Given the description of an element on the screen output the (x, y) to click on. 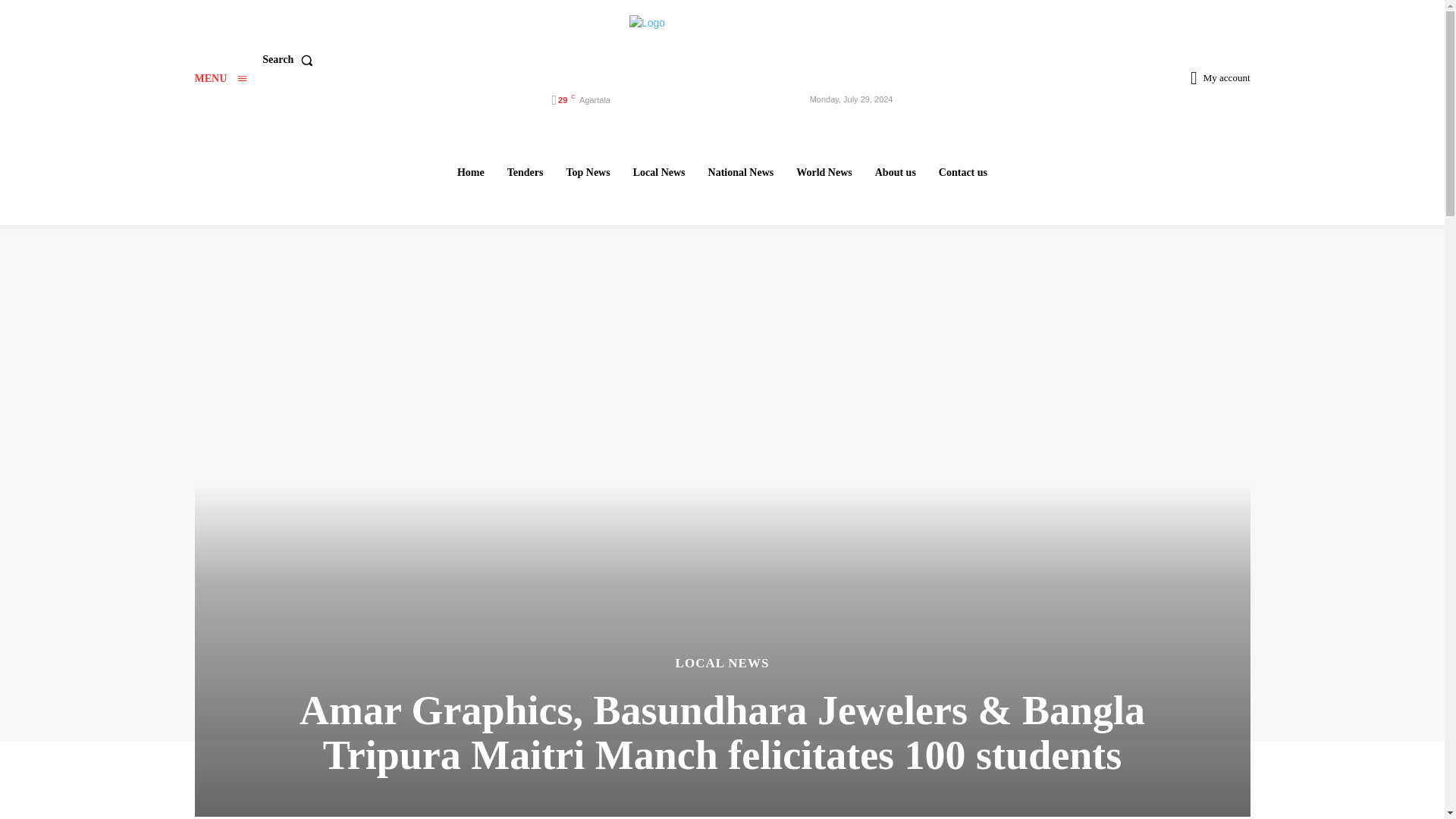
Tenders (525, 172)
MENU (220, 78)
Top News (587, 172)
Menu (220, 78)
Search (290, 60)
Local News (659, 172)
World News (824, 172)
National News (740, 172)
Home (470, 172)
